Given the description of an element on the screen output the (x, y) to click on. 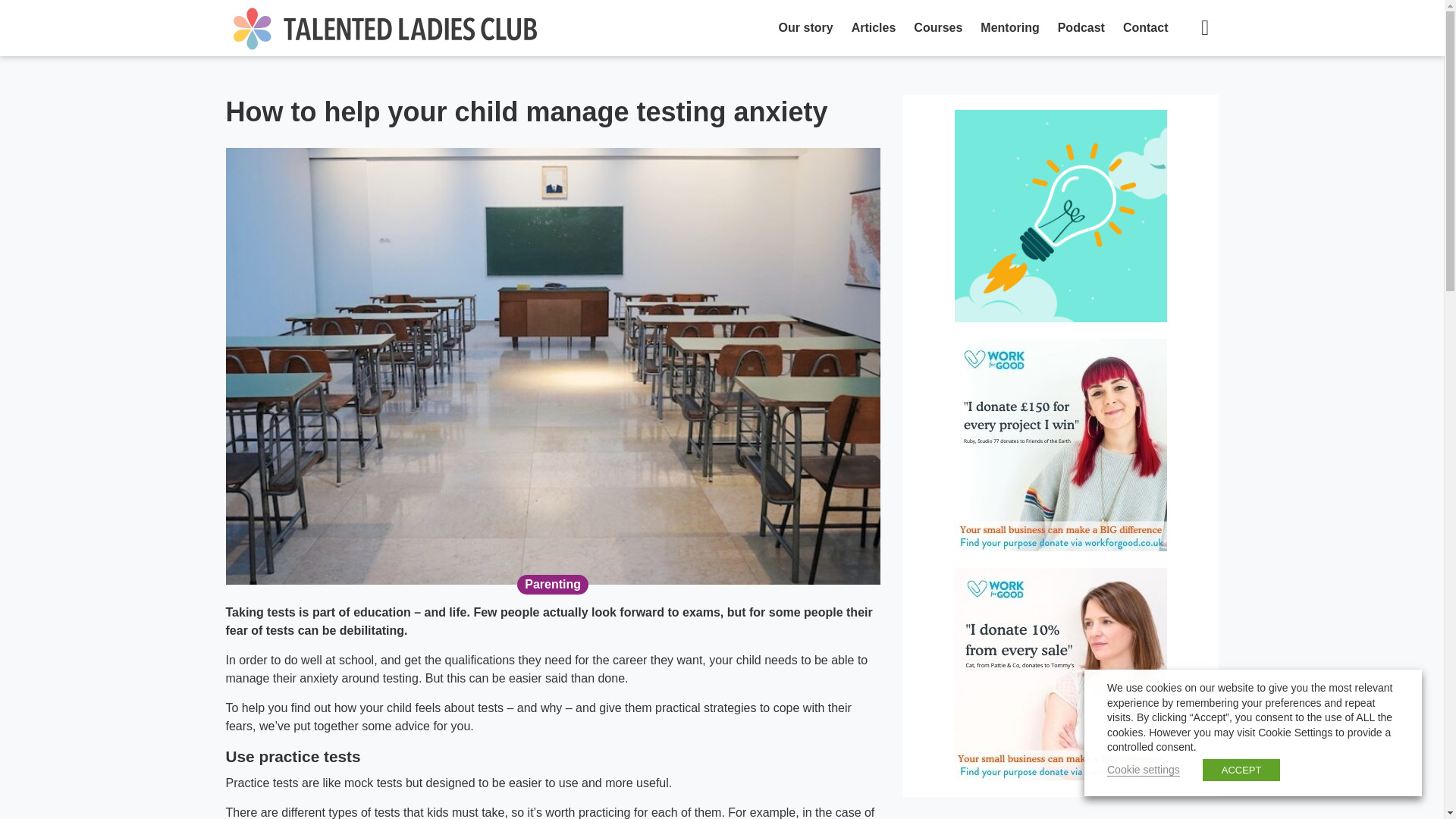
Mentoring (1009, 28)
Podcast (1080, 28)
Articles (874, 28)
Courses (937, 28)
Contact (1145, 28)
Our story (806, 28)
